Given the description of an element on the screen output the (x, y) to click on. 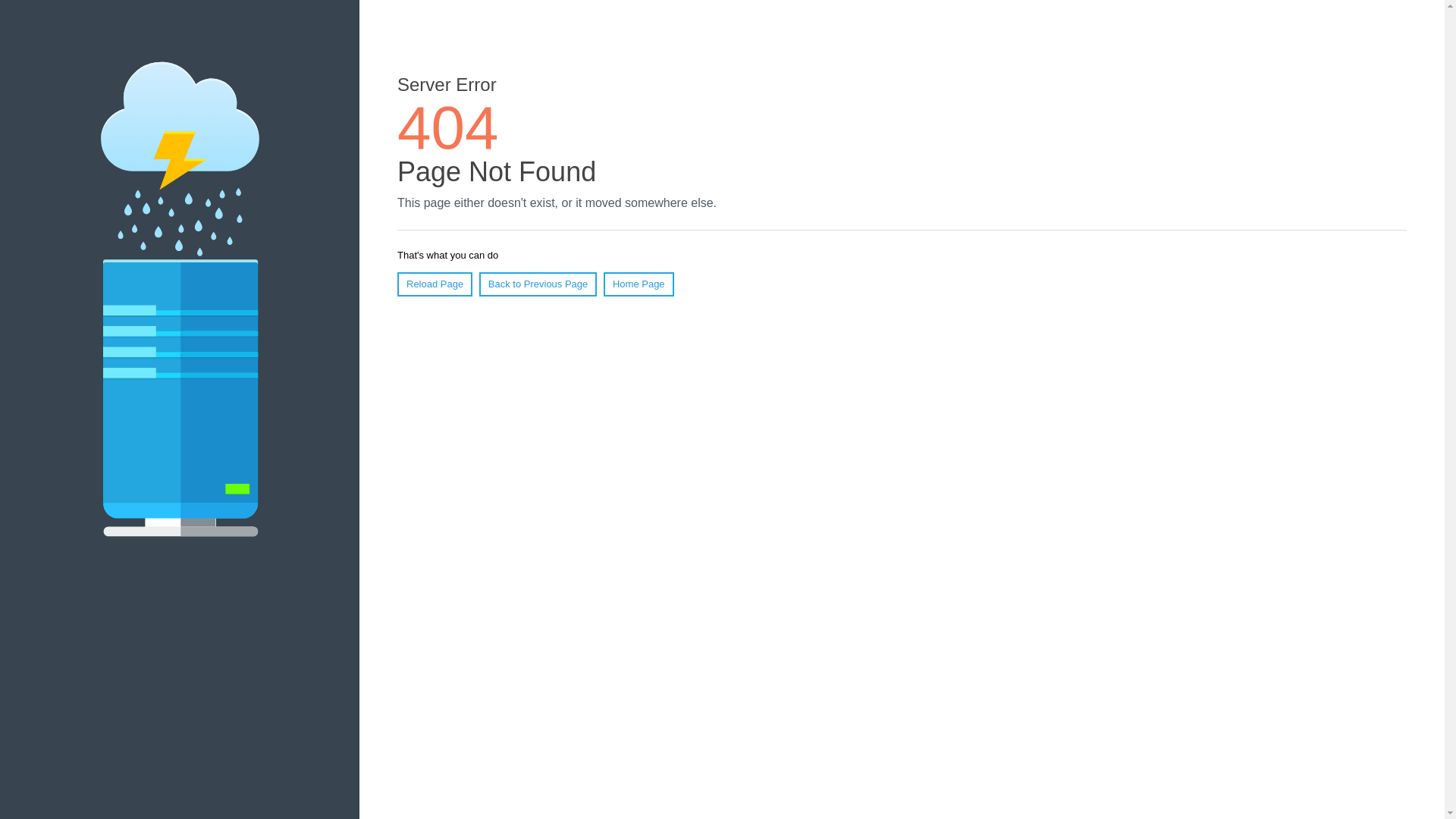
Reload Page Element type: text (434, 284)
Back to Previous Page Element type: text (538, 284)
Home Page Element type: text (638, 284)
